Given the description of an element on the screen output the (x, y) to click on. 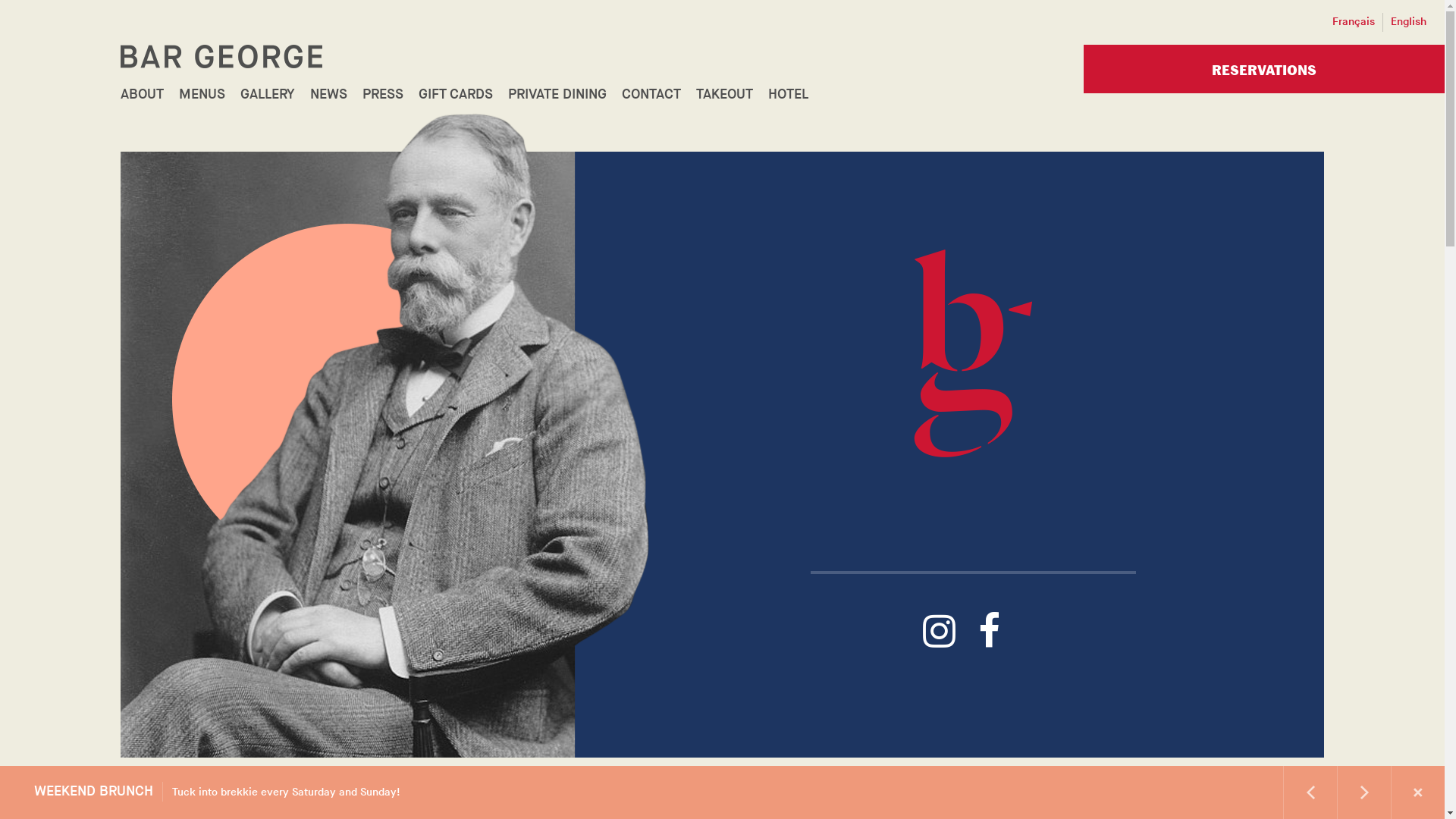
HOTEL Element type: text (787, 94)
PRESS Element type: text (382, 94)
CONTACT Element type: text (651, 94)
ABOUT Element type: text (141, 94)
GIFT CARDS Element type: text (455, 94)
MENUS Element type: text (201, 94)
English Element type: text (1408, 21)
NEWS Element type: text (328, 94)
TAKEOUT Element type: text (724, 94)
GALLERY Element type: text (267, 94)
PRIVATE DINING Element type: text (557, 94)
RESERVATIONS Element type: text (1263, 68)
